Given the description of an element on the screen output the (x, y) to click on. 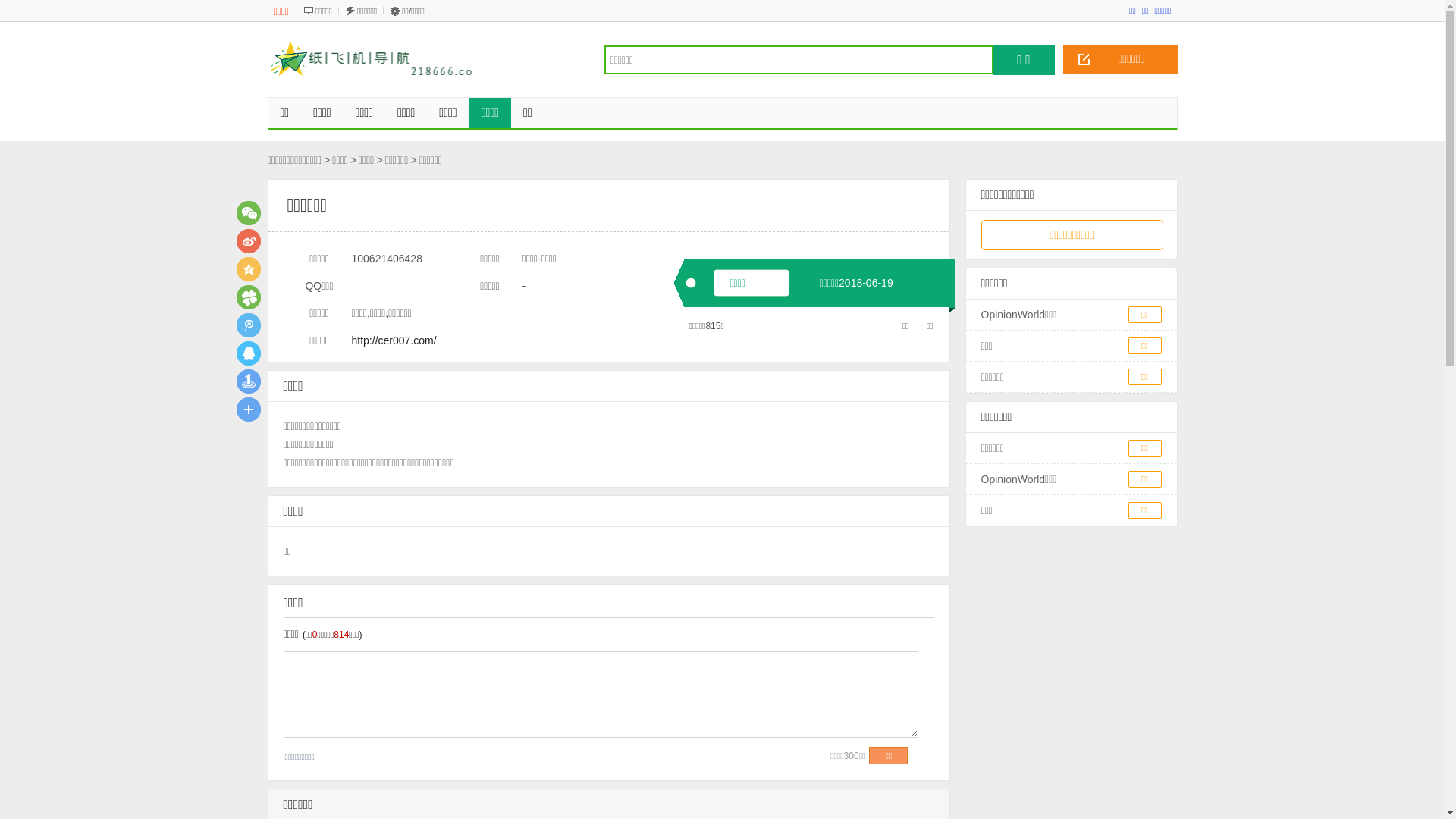
http://cer007.com/ Element type: text (393, 340)
